Given the description of an element on the screen output the (x, y) to click on. 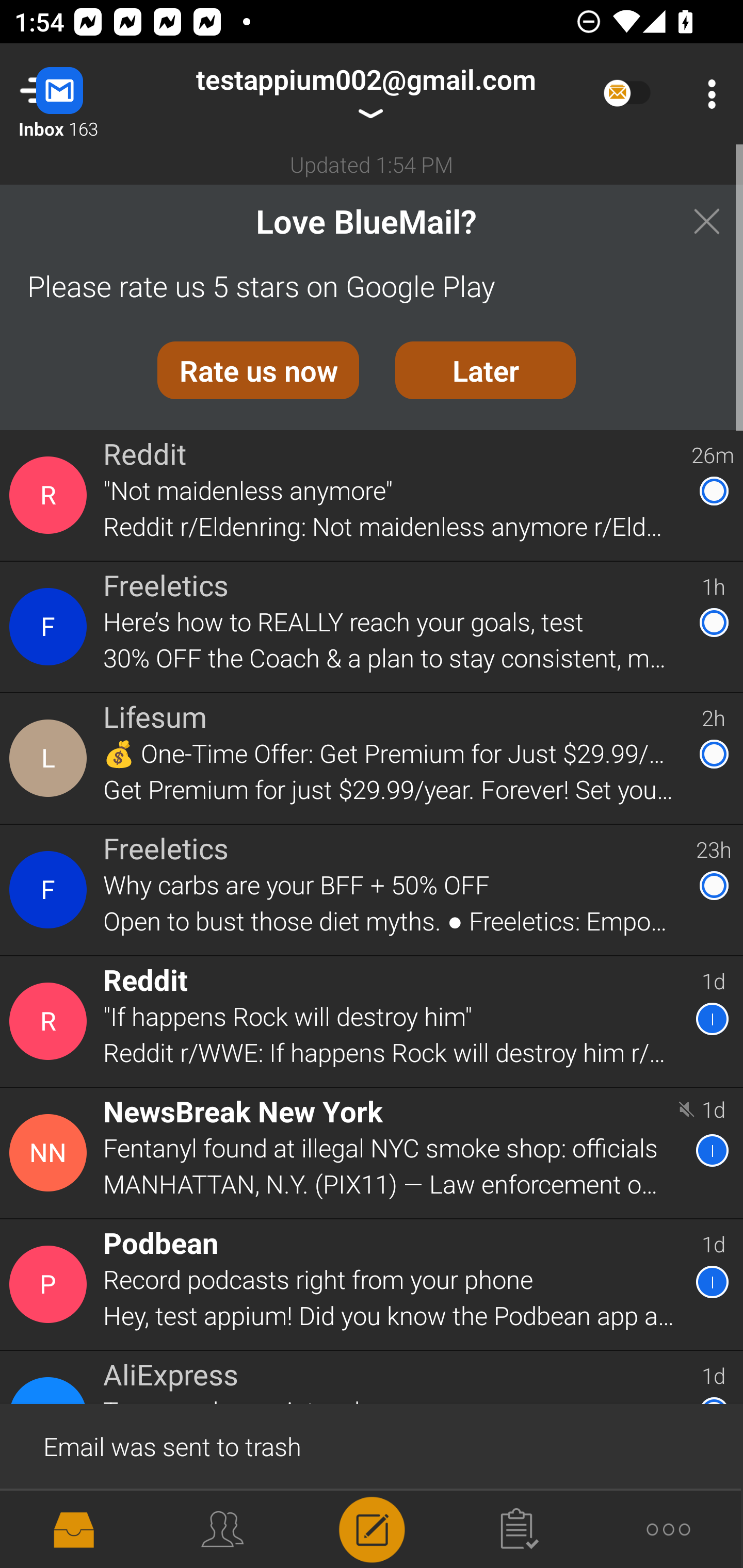
Navigate up (81, 93)
testappium002@gmail.com (365, 93)
More Options (706, 93)
Updated 1:54 PM (371, 164)
Rate us now (257, 370)
Later (485, 370)
Contact Details (50, 495)
Contact Details (50, 626)
Contact Details (50, 758)
Contact Details (50, 889)
Contact Details (50, 1021)
Contact Details (50, 1153)
Contact Details (50, 1284)
Email was sent to trash (371, 1445)
Compose (371, 1528)
